Given the description of an element on the screen output the (x, y) to click on. 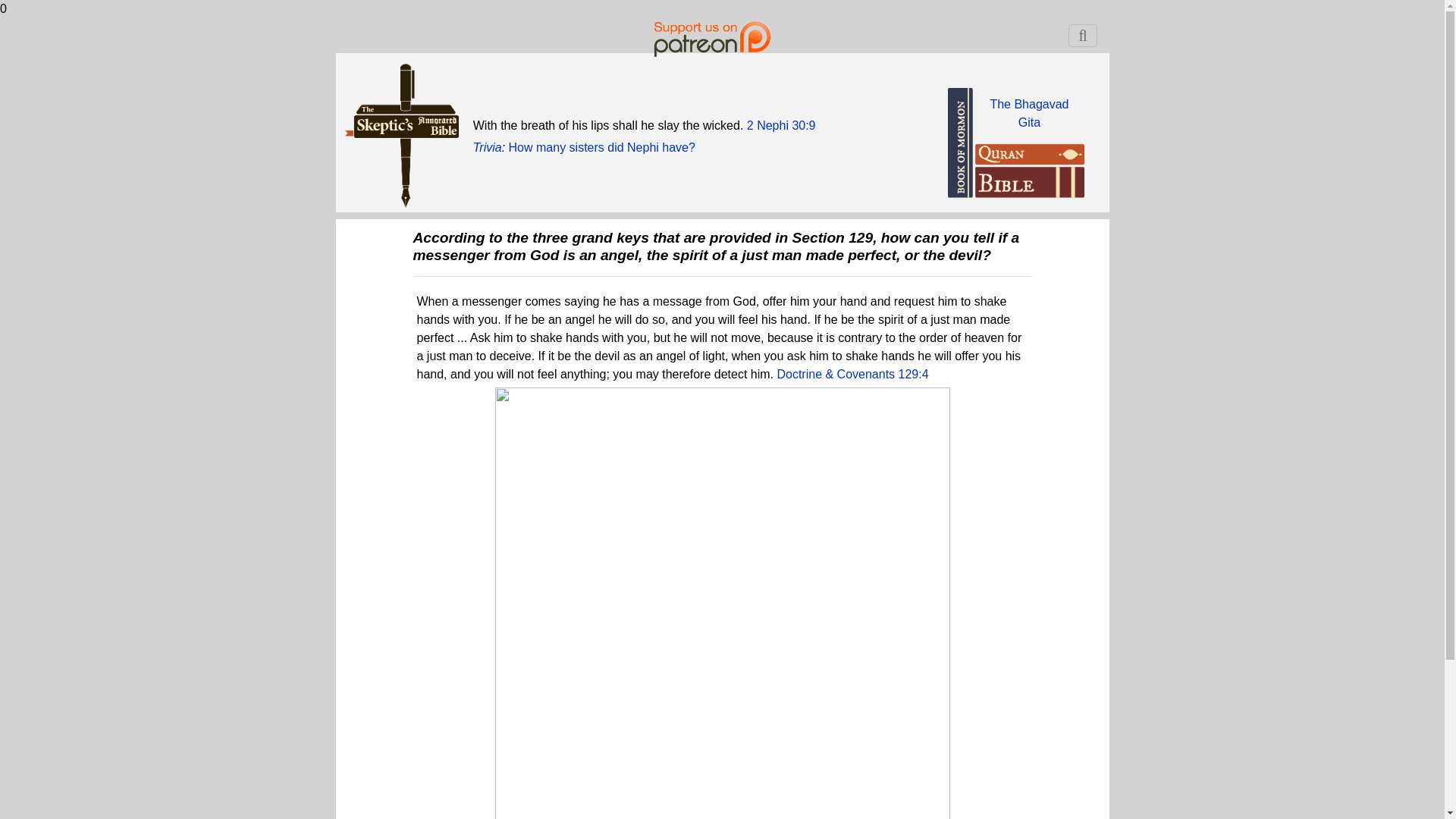
How many sisters did Nephi have? (601, 146)
2 Nephi 30:9 (1029, 112)
Trivia (780, 124)
